Given the description of an element on the screen output the (x, y) to click on. 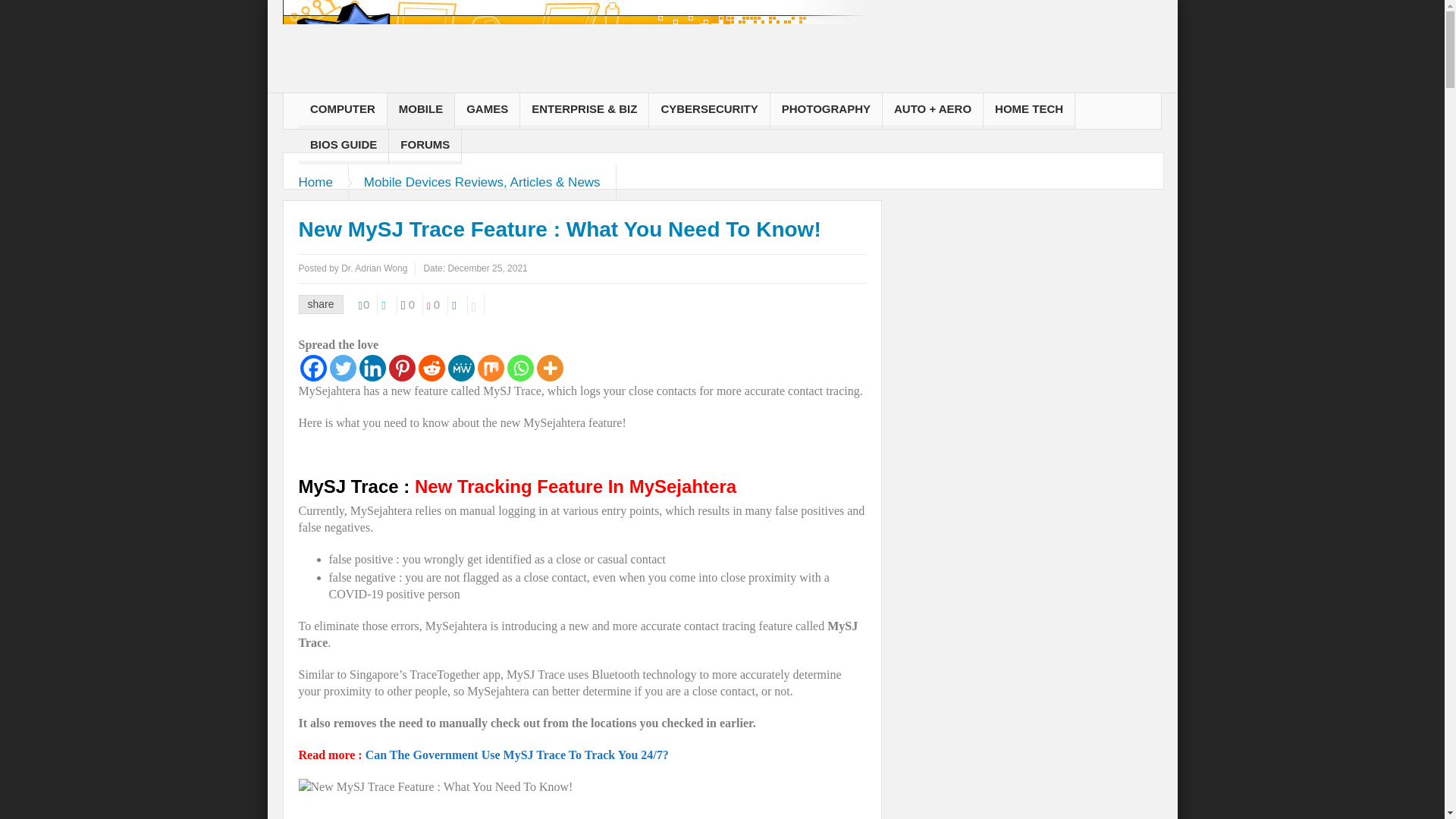
0 (412, 303)
Reddit (432, 367)
CYBERSECURITY (708, 110)
FORUMS (424, 146)
0 (368, 303)
More (550, 367)
Mix (490, 367)
Whatsapp (519, 367)
HOME TECH (1029, 110)
Twitter (342, 367)
Pinterest (401, 367)
Tech ARP (574, 55)
PHOTOGRAPHY (826, 110)
COMPUTER (342, 110)
MeWe (460, 367)
